Given the description of an element on the screen output the (x, y) to click on. 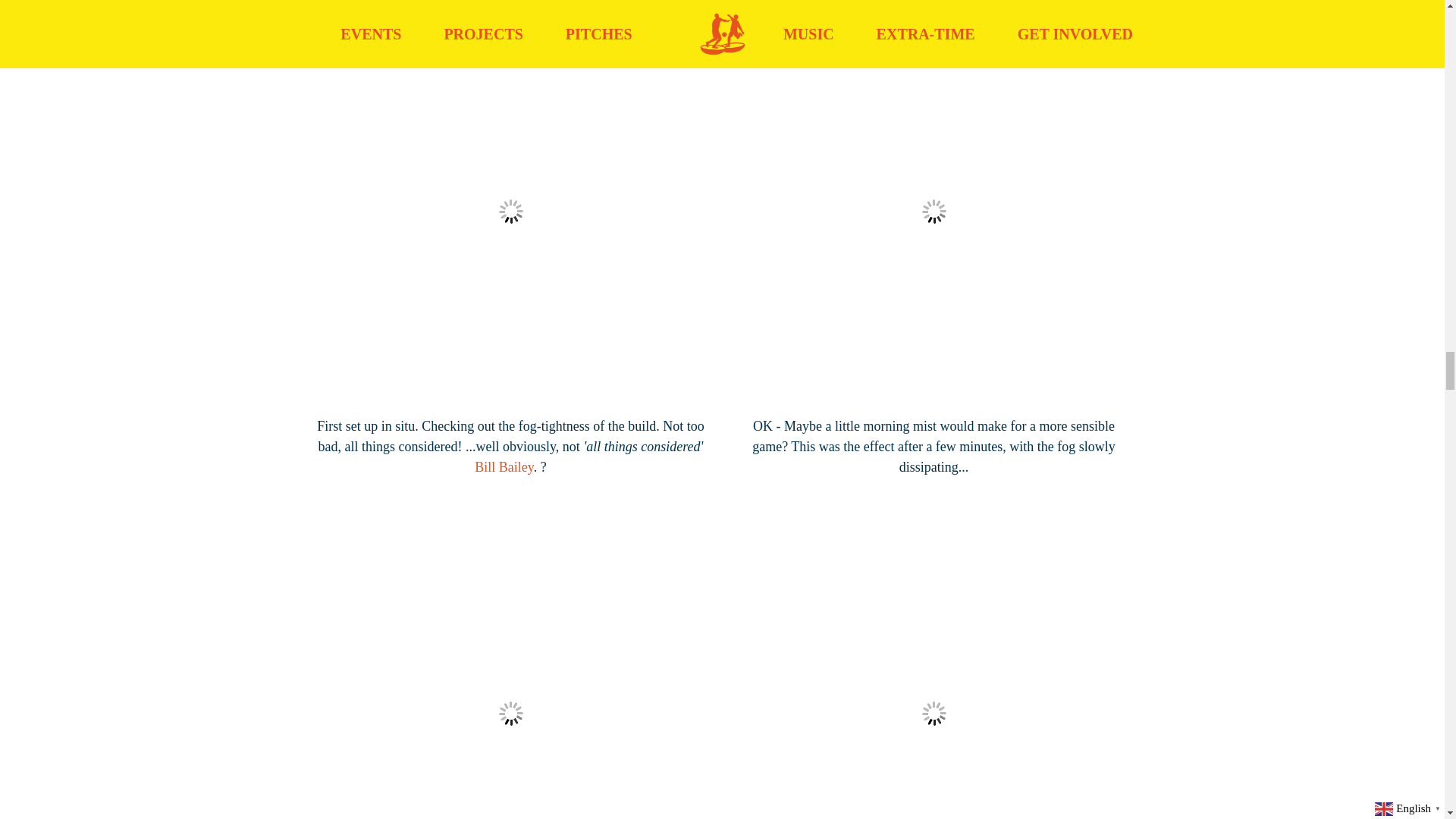
Bill Bailey (503, 467)
